Given the description of an element on the screen output the (x, y) to click on. 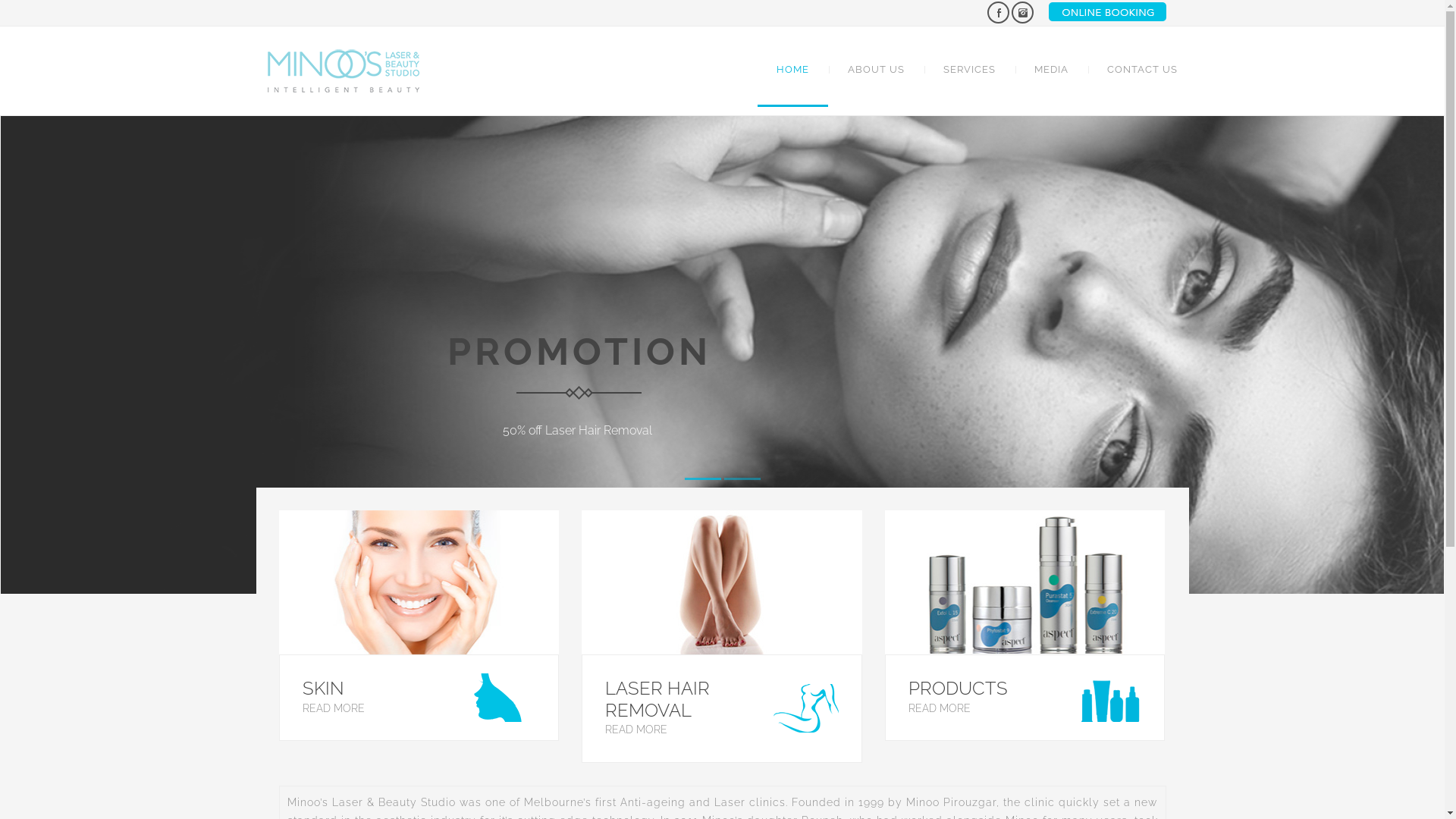
  Element type: text (998, 12)
Products Element type: hover (1024, 582)
CONTACT US Element type: text (1131, 69)
Skin Element type: hover (419, 582)
HOME Element type: text (791, 69)
Laser Hair Removal Element type: hover (721, 582)
LASER HAIR REMOVAL
READ MORE Element type: text (721, 636)
MEDIA Element type: text (1050, 69)
SERVICES Element type: text (968, 69)
Minoos Laser and Beauty Studio Element type: hover (342, 70)
PRODUCTS
READ MORE Element type: text (1024, 625)
ABOUT US Element type: text (875, 69)
  Element type: text (1022, 12)
SKIN
READ MORE Element type: text (419, 625)
